Given the description of an element on the screen output the (x, y) to click on. 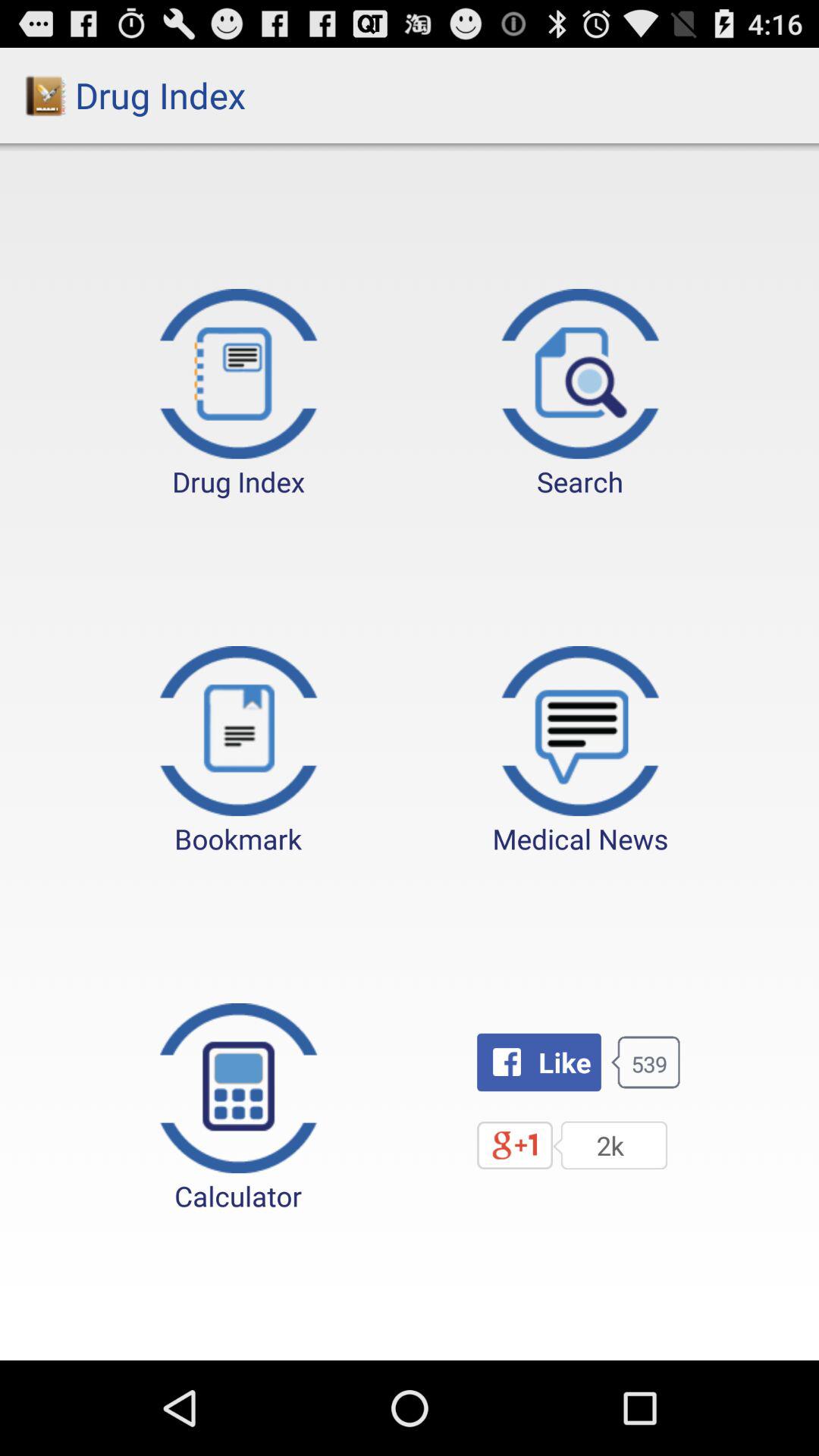
swipe to calculator button (238, 1108)
